Given the description of an element on the screen output the (x, y) to click on. 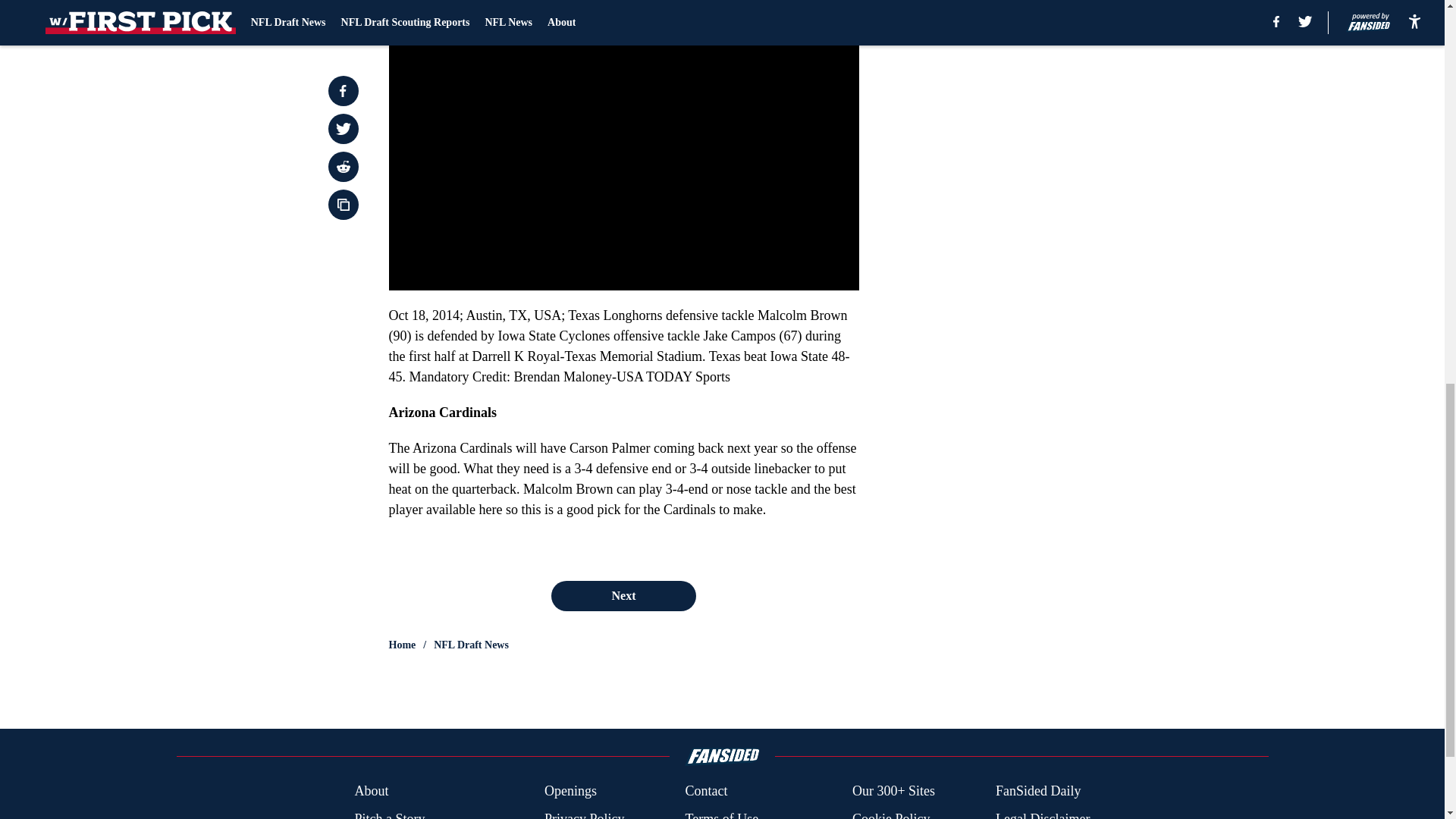
Prev (433, 5)
Terms of Use (721, 814)
About (370, 791)
Next (813, 5)
Cookie Policy (890, 814)
Legal Disclaimer (1042, 814)
Contact (705, 791)
Pitch a Story (389, 814)
FanSided Daily (1038, 791)
Privacy Policy (584, 814)
